Given the description of an element on the screen output the (x, y) to click on. 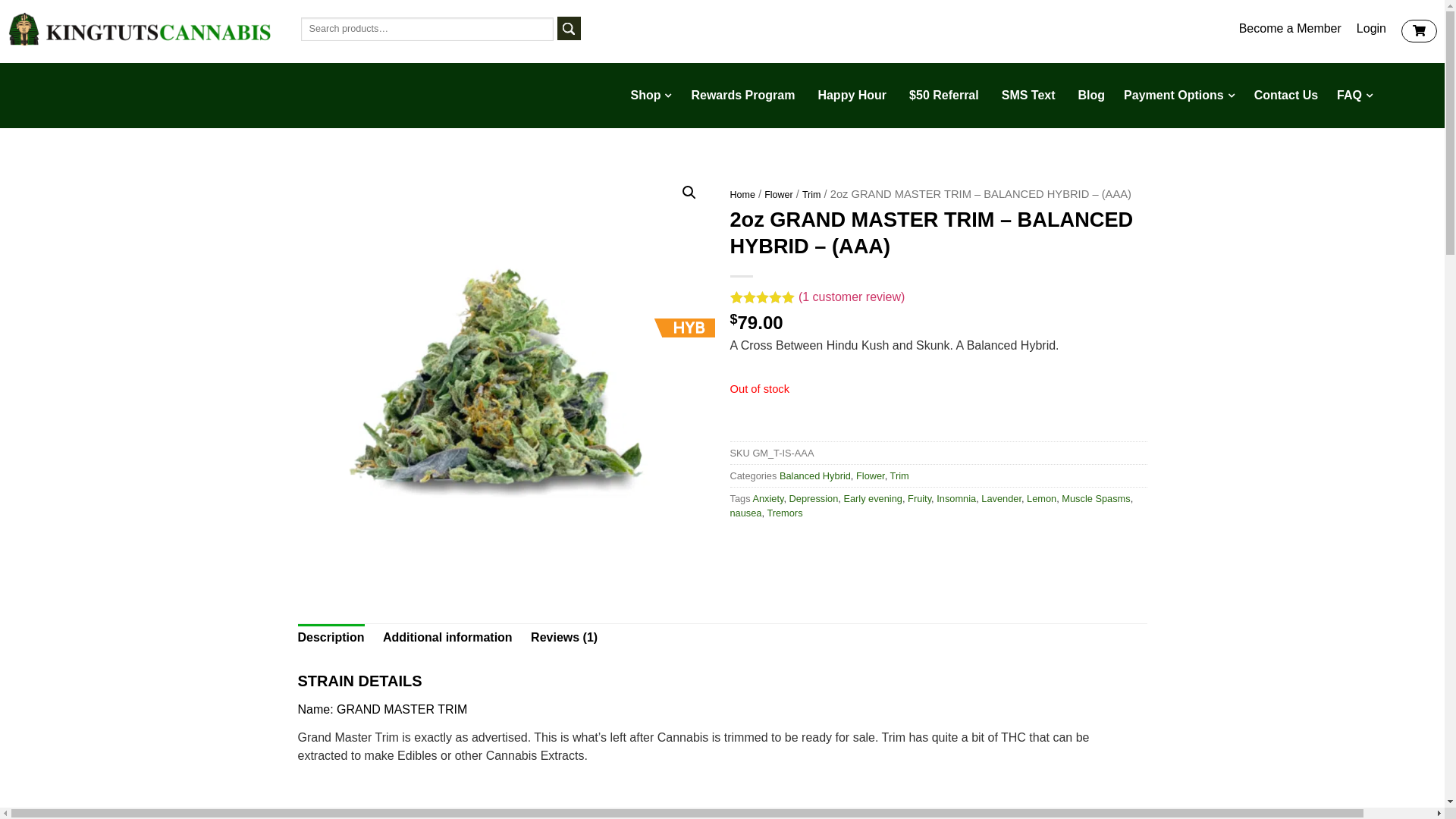
Search Element type: text (568, 28)
Tremors Element type: text (784, 512)
Lemon Element type: text (1041, 498)
Balanced Hybrid Element type: text (814, 475)
Contact Us Element type: text (1285, 95)
Anxiety Element type: text (767, 498)
FAQ Element type: text (1354, 95)
Insomnia Element type: text (955, 498)
Lavender Element type: text (1001, 498)
Muscle Spasms Element type: text (1095, 498)
nausea Element type: text (745, 512)
SMS Text Element type: text (1028, 95)
Trim Element type: text (899, 475)
Login Element type: text (1371, 28)
Payment Options Element type: text (1179, 95)
Flower Element type: text (778, 194)
Home Element type: text (741, 194)
Fruity Element type: text (919, 498)
Flower Element type: text (870, 475)
Depression Element type: text (813, 498)
Additional information Element type: text (447, 637)
Trim Element type: text (811, 194)
$50 Referral Element type: text (943, 95)
View your shopping cart Element type: hover (1419, 30)
Happy Hour Element type: text (851, 95)
Early evening Element type: text (872, 498)
Blog Element type: text (1091, 95)
Shop Element type: text (650, 95)
Rewards Program Element type: text (742, 95)
kingtuts-grand-master-trim Element type: hover (505, 374)
Reviews (1) Element type: text (563, 637)
(1 customer review) Element type: text (851, 297)
Description Element type: text (330, 637)
Become a Member Element type: text (1282, 28)
